Given the description of an element on the screen output the (x, y) to click on. 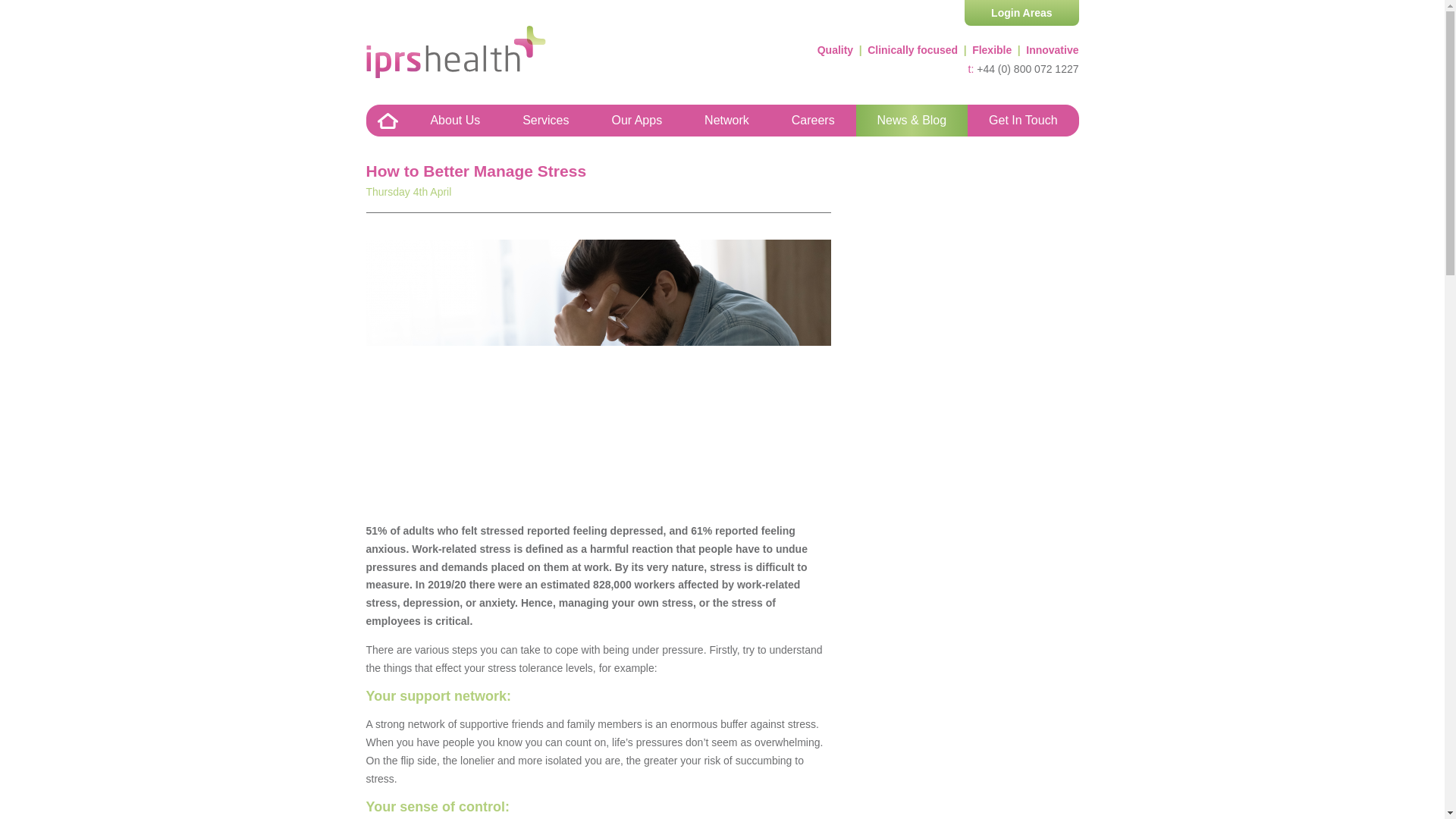
About Us (454, 120)
Login Areas (1020, 12)
Network (726, 120)
Services (544, 120)
Our Apps (635, 120)
Get In Touch (1023, 120)
IPRS Health (454, 51)
Careers (813, 120)
